Given the description of an element on the screen output the (x, y) to click on. 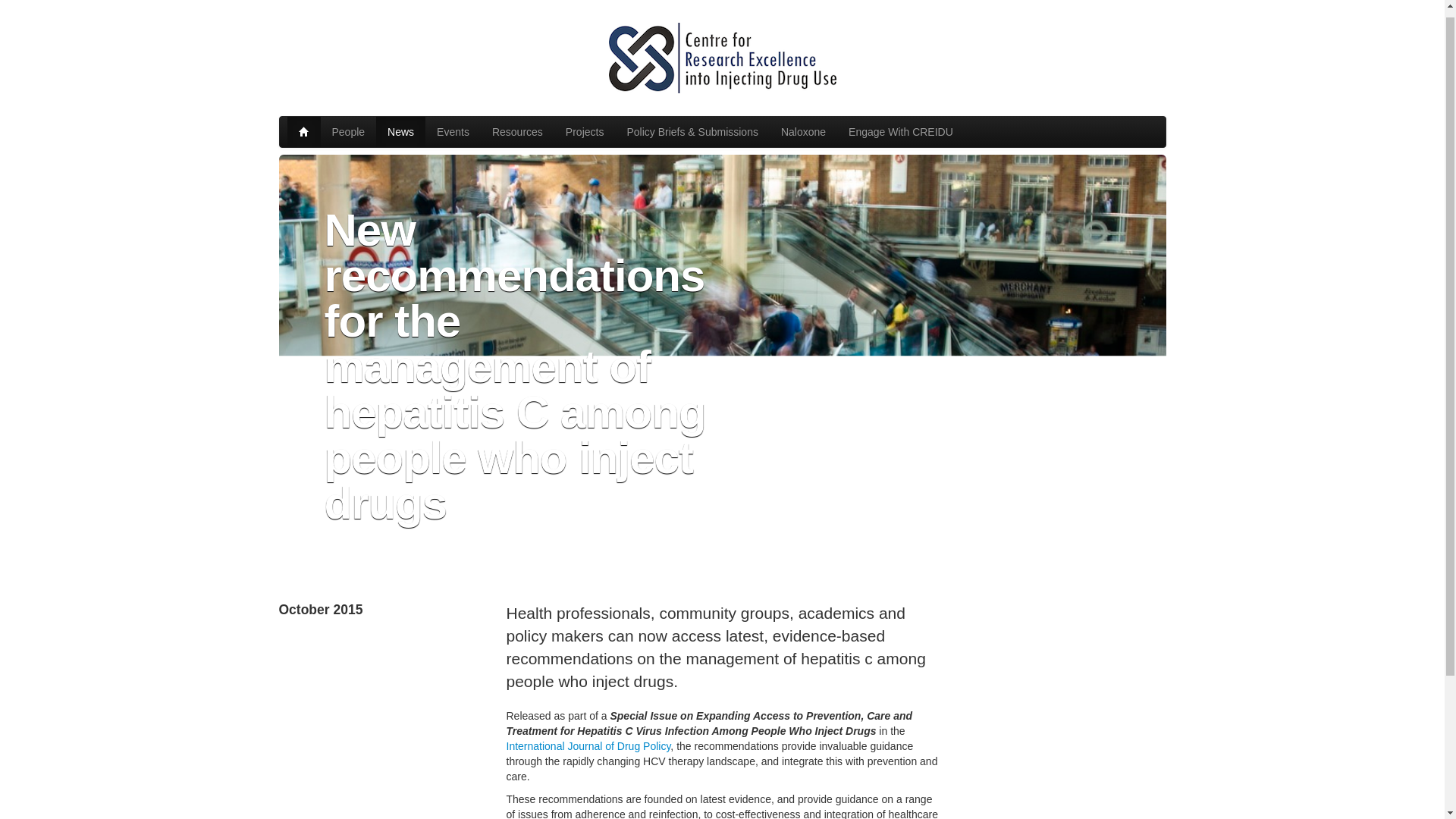
News (400, 123)
Events (452, 123)
Projects (584, 123)
People (347, 123)
Resources (517, 123)
International Journal of Drug Policy (588, 746)
Naloxone (803, 123)
Engage With CREIDU (900, 123)
